Given the description of an element on the screen output the (x, y) to click on. 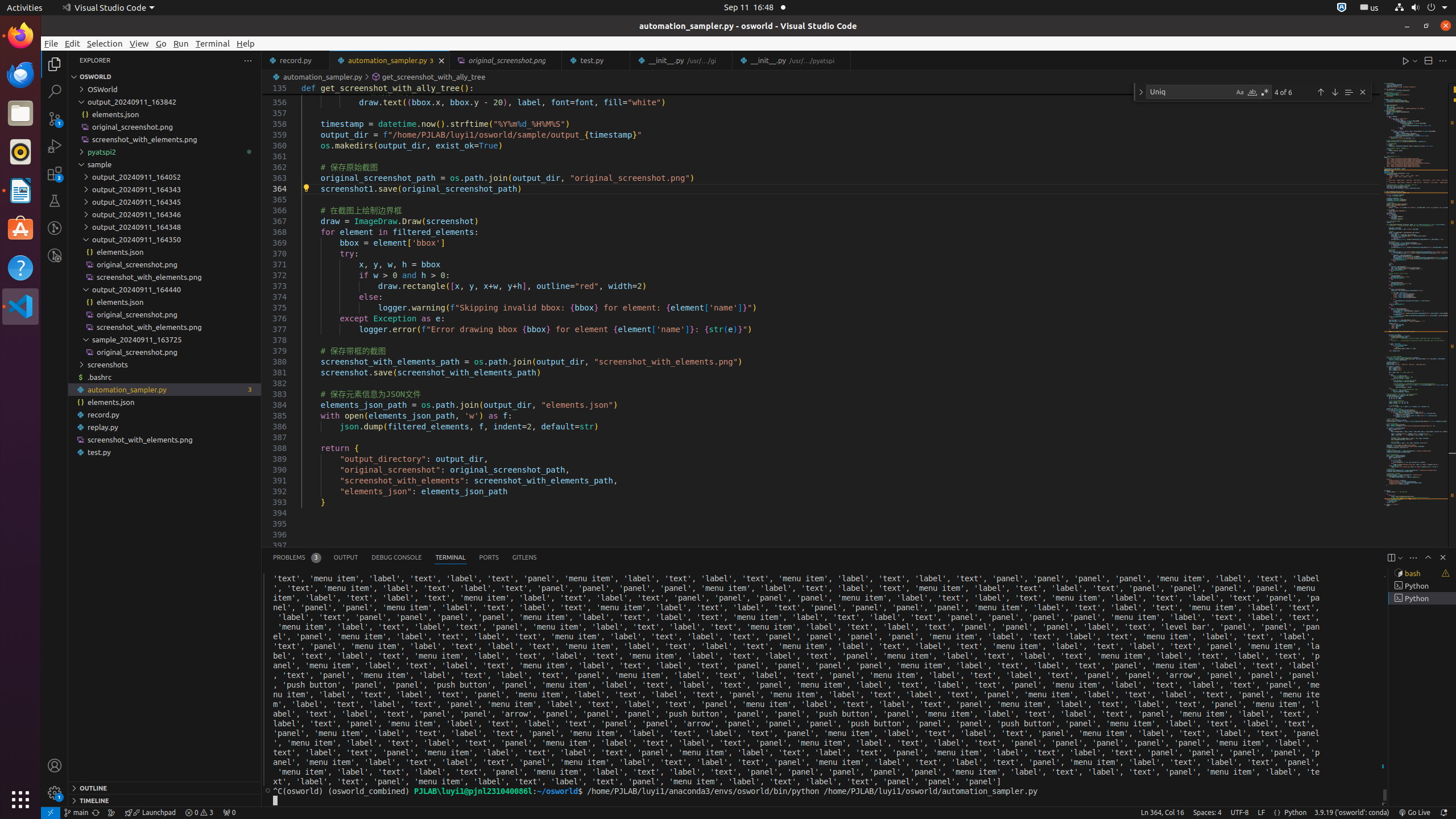
output_20240911_164440 Element type: tree-item (164, 289)
def get_screenshot_with_ally_tree(): Element type: list-item (840, 88)
OSWorld (Git) - Synchronize Changes Element type: push-button (95, 812)
LF Element type: push-button (1261, 812)
Close (Ctrl+W) Element type: push-button (842, 60)
